Given the description of an element on the screen output the (x, y) to click on. 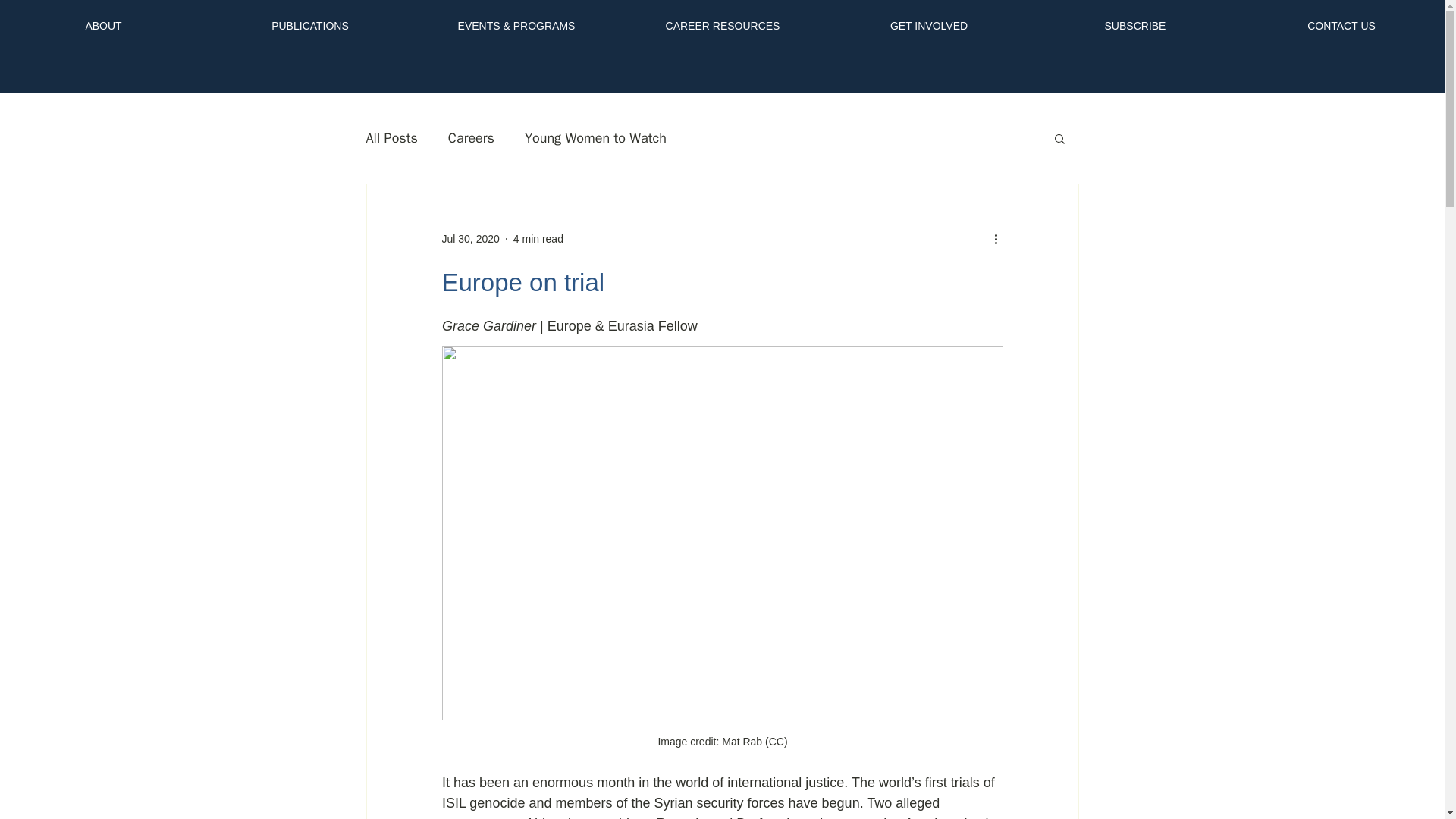
All Posts (390, 137)
SUBSCRIBE (1135, 19)
Jul 30, 2020 (470, 237)
4 min read (538, 237)
Careers (471, 137)
Young Women to Watch (595, 137)
